Given the description of an element on the screen output the (x, y) to click on. 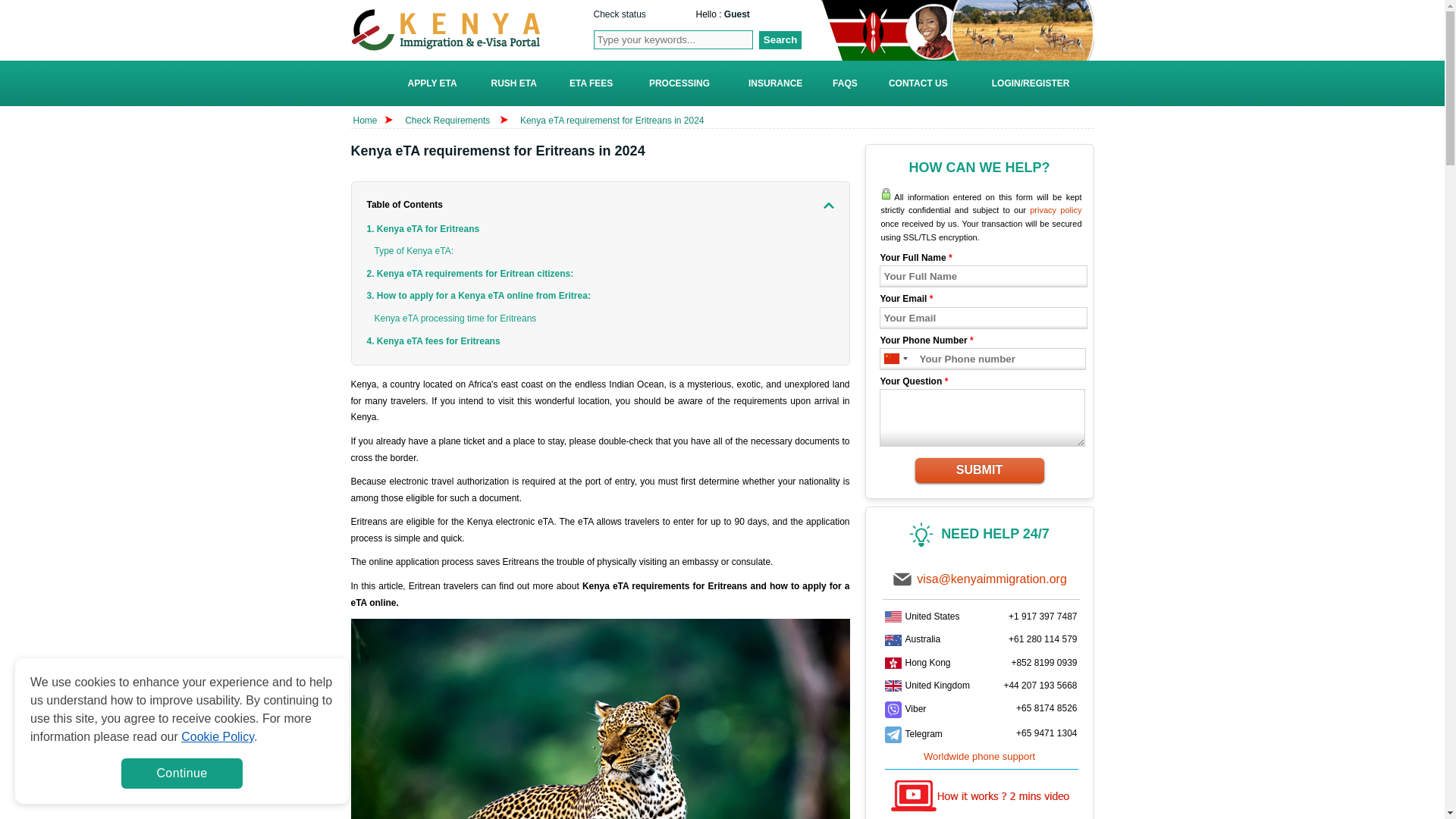
Search (780, 39)
Kenya eTA requiremenst for Eritreans in 2024 (611, 120)
Contact Us (918, 84)
2. Kenya eTA requirements for Eritrean citizens: (469, 273)
INSURANCE (775, 84)
Kenya eTA processing time for Eritreans (455, 319)
Check Requirements (448, 120)
Home (365, 120)
PROCESSING (678, 84)
Check status (618, 14)
3. How to apply for a Kenya eTA online from Eritrea: (478, 295)
Account (736, 14)
Check status (618, 14)
3. How to apply for a Kenya eTA online from Eritrea: (478, 295)
Check Requirements (448, 120)
